Given the description of an element on the screen output the (x, y) to click on. 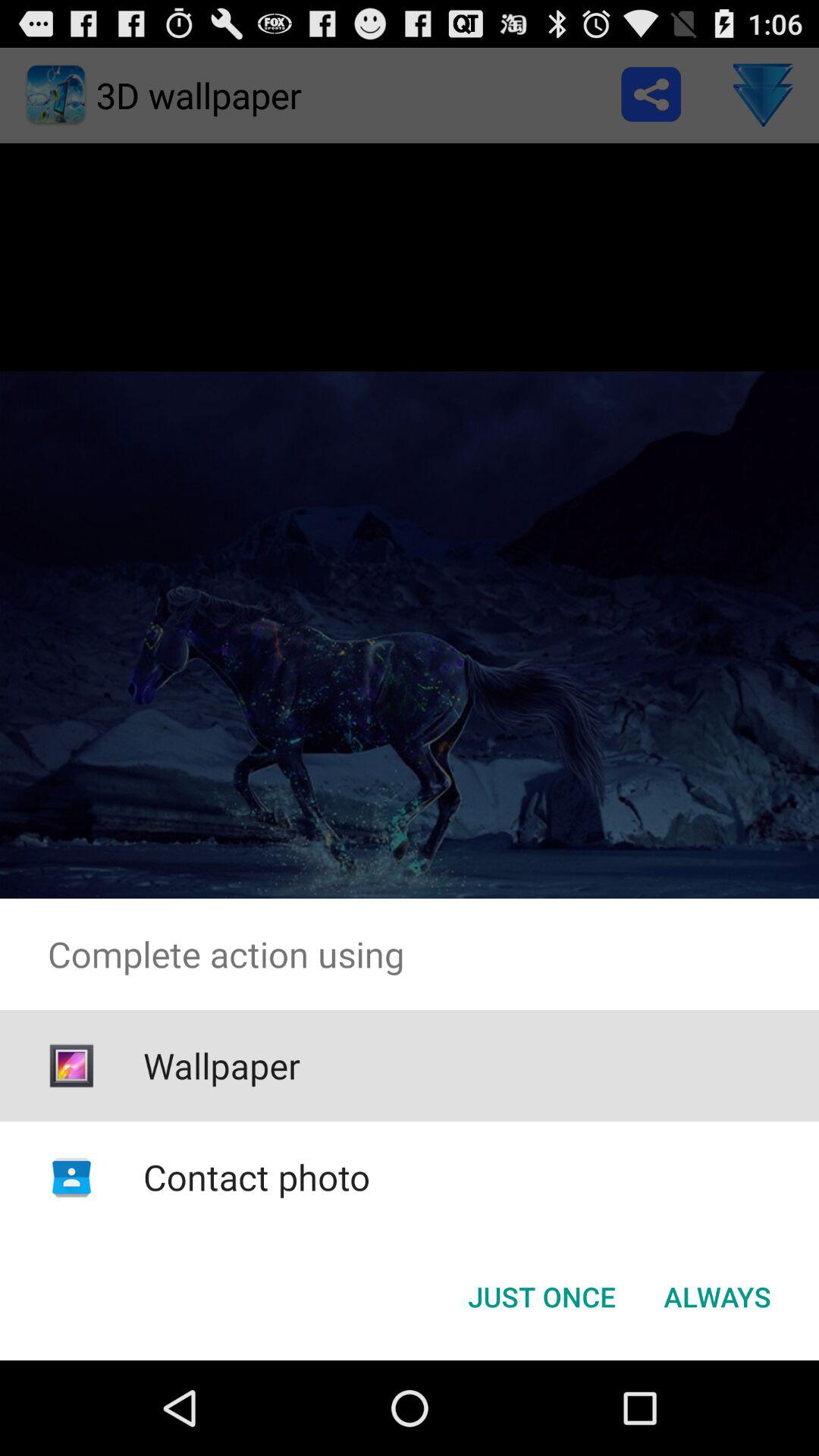
turn off the button to the left of the always item (541, 1296)
